Given the description of an element on the screen output the (x, y) to click on. 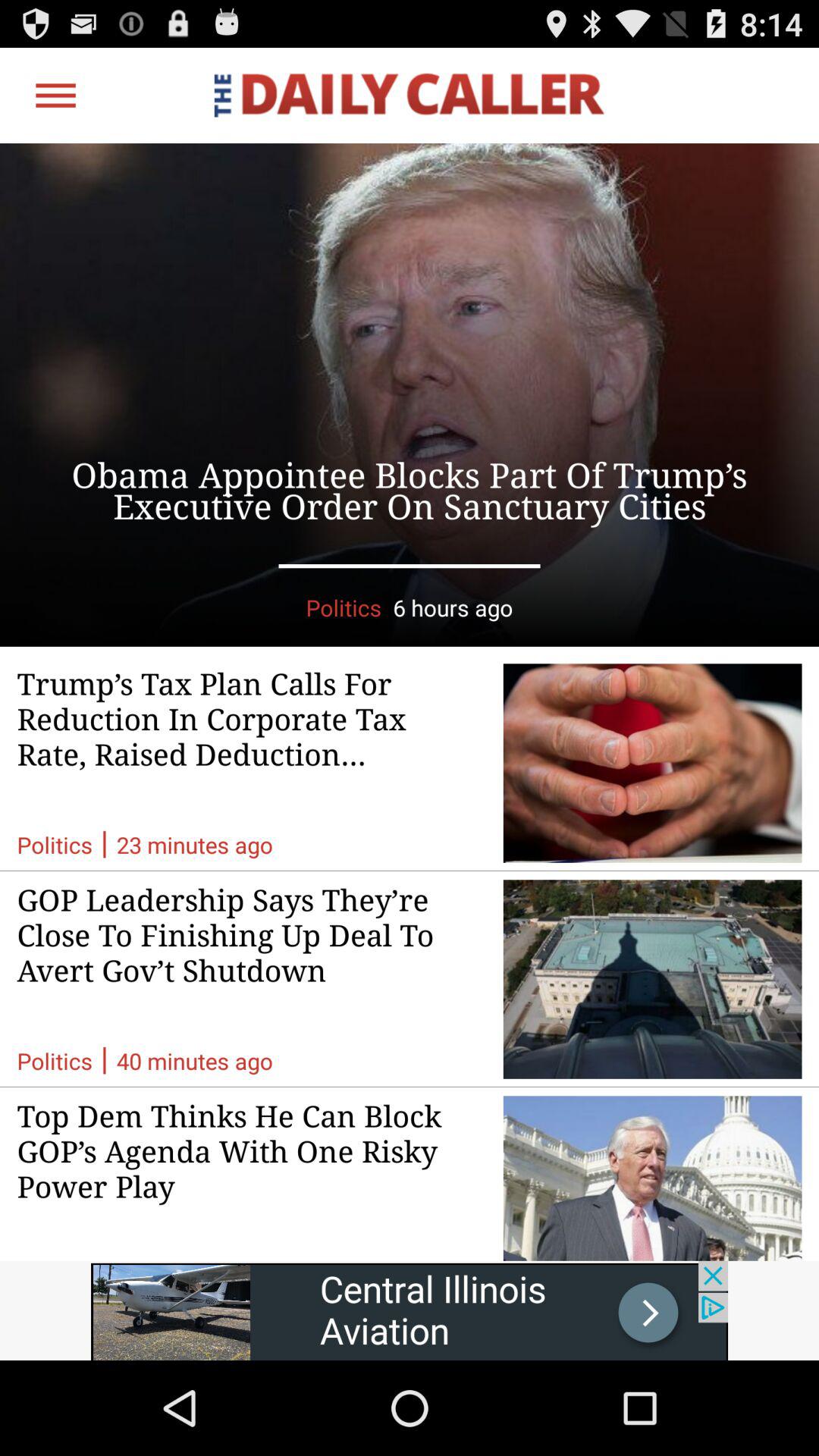
opens the article (409, 394)
